Given the description of an element on the screen output the (x, y) to click on. 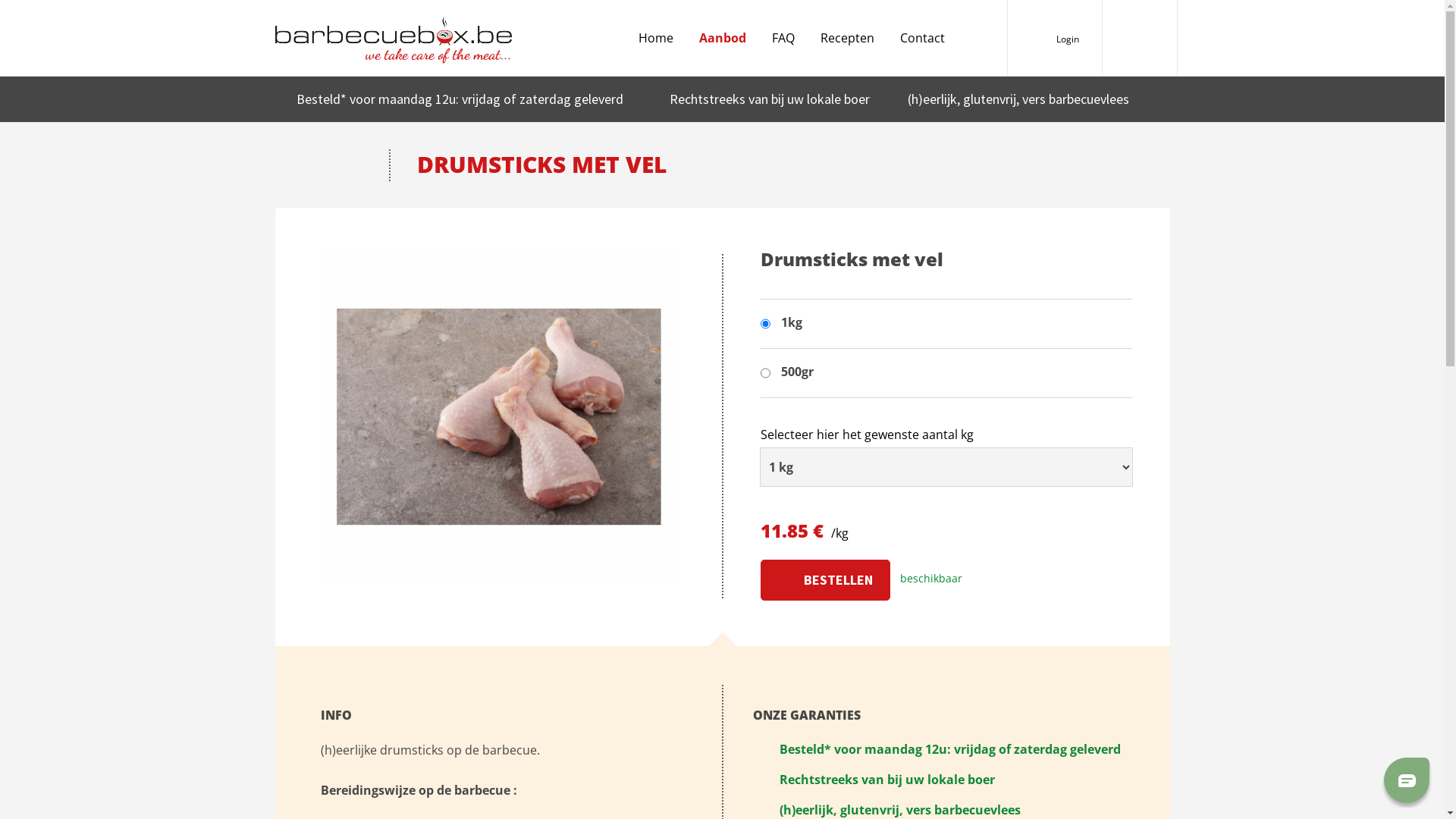
Barbecuebox Element type: text (1139, 37)
Contact Element type: text (921, 37)
Aanbod Element type: text (722, 37)
Bestellen Element type: text (824, 579)
FAQ Element type: text (782, 37)
Recepten Element type: text (847, 37)
Login Element type: text (1066, 38)
Gebruiker Element type: text (1033, 37)
Besteld* Element type: text (320, 98)
Home Element type: text (655, 37)
Besteld* Element type: text (805, 748)
Chat Element type: hover (1406, 778)
we take care of the meat... Element type: text (392, 33)
